Given the description of an element on the screen output the (x, y) to click on. 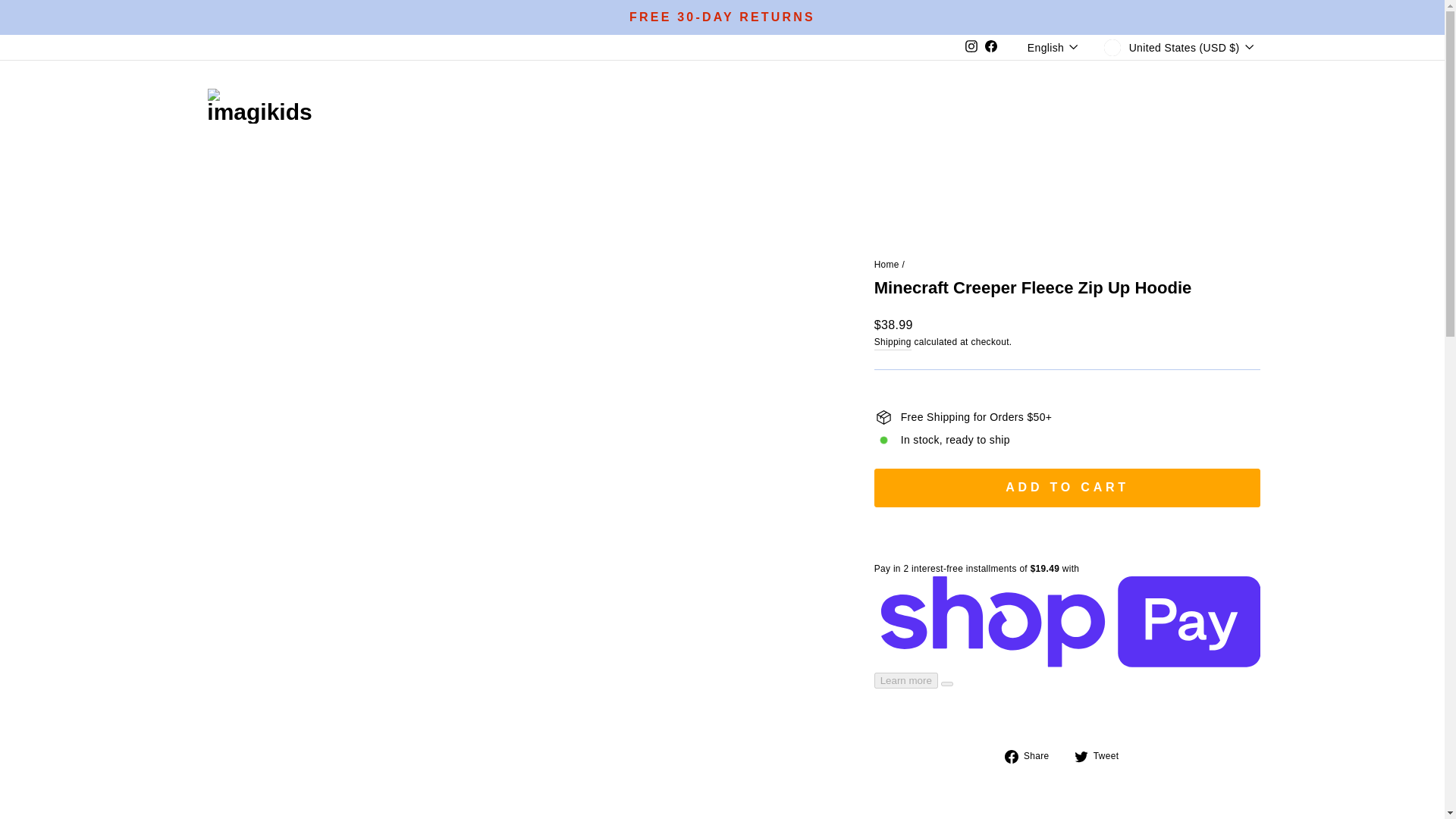
imagikids on Facebook (991, 47)
Back to the frontpage (887, 264)
imagikids on Instagram (970, 47)
Tweet on Twitter (1102, 754)
Share on Facebook (1032, 754)
